Given the description of an element on the screen output the (x, y) to click on. 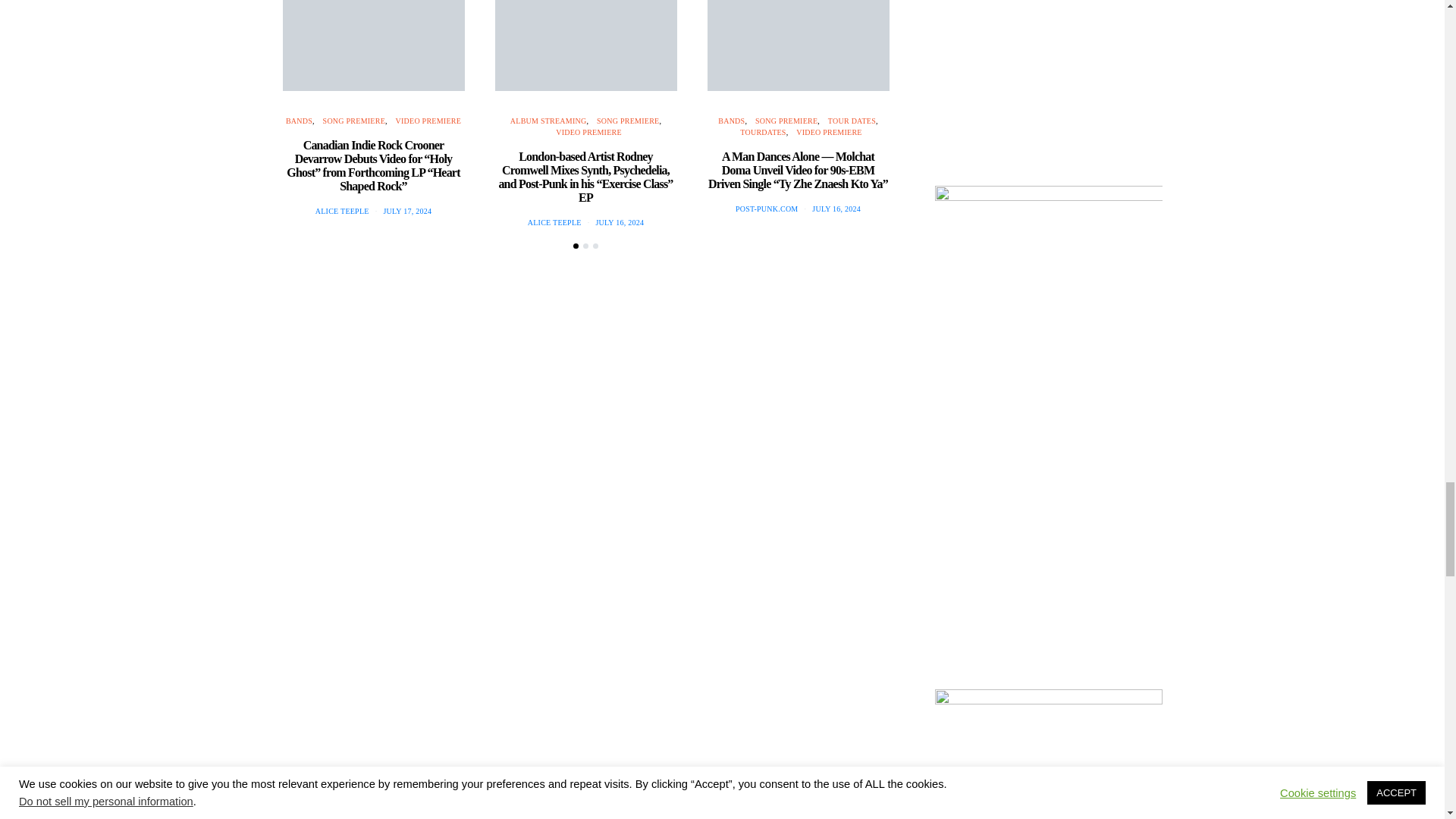
View all posts by post-punk.com (766, 208)
View all posts by Alice Teeple (342, 211)
View all posts by Alice Teeple (553, 222)
